Given the description of an element on the screen output the (x, y) to click on. 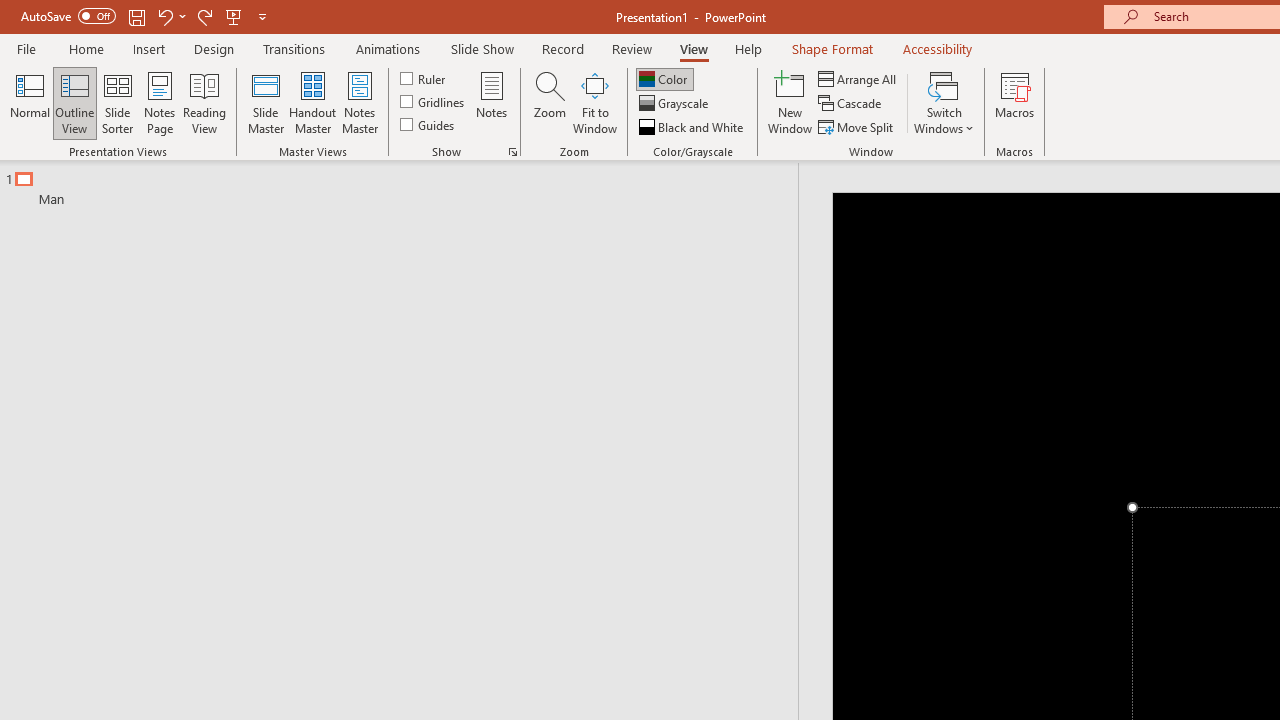
Move Split (857, 126)
Notes Page (159, 102)
